Given the description of an element on the screen output the (x, y) to click on. 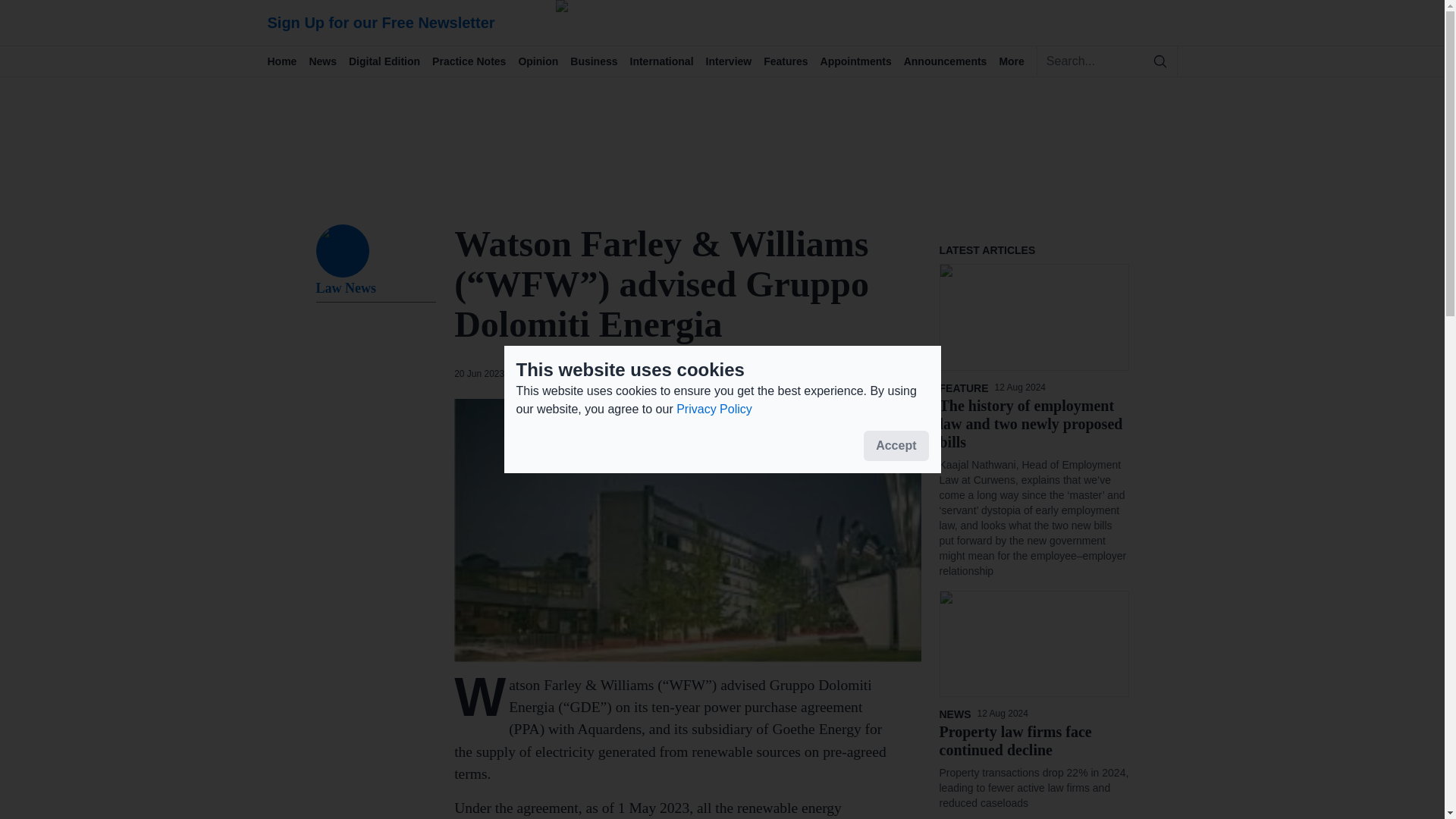
Practice Notes (475, 61)
Sign Up for our Free Newsletter (418, 22)
FEATURE (966, 388)
Announcements (951, 61)
Digital Edition (390, 61)
Features (790, 61)
International (668, 61)
Business (599, 61)
Law News (375, 289)
